Given the description of an element on the screen output the (x, y) to click on. 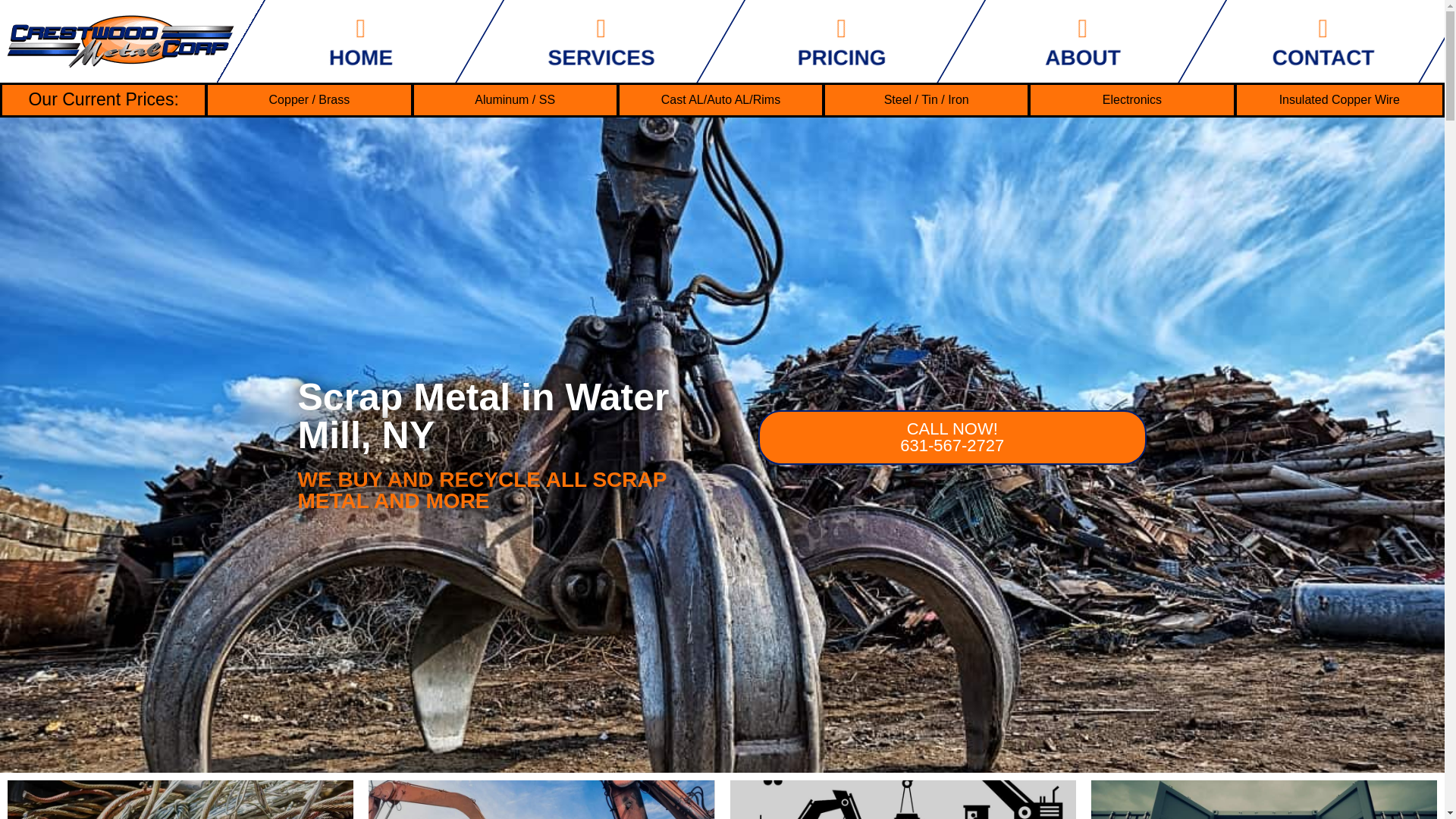
Storage (1263, 799)
ABOUT (1061, 40)
Industrial (541, 799)
Premium Equipment (902, 799)
CONTACT (952, 437)
Insulated Copper Wire (1301, 40)
Retail (1339, 100)
HOME (180, 799)
SERVICES (339, 40)
Electronics (579, 40)
PRICING (1131, 100)
